Given the description of an element on the screen output the (x, y) to click on. 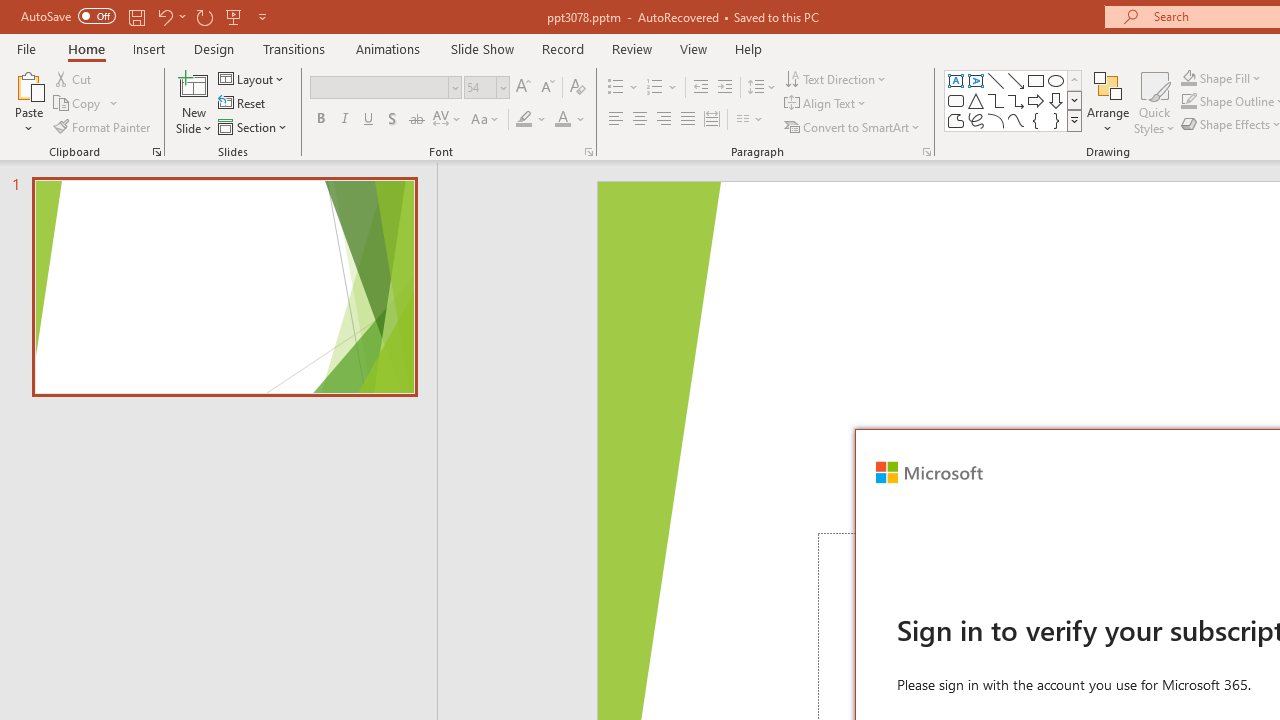
Align Text (826, 103)
Bold (320, 119)
Increase Font Size (522, 87)
Clear Formatting (577, 87)
Shape Fill Dark Green, Accent 2 (1188, 78)
Font Color Red (562, 119)
Shape Outline Green, Accent 1 (1188, 101)
